Given the description of an element on the screen output the (x, y) to click on. 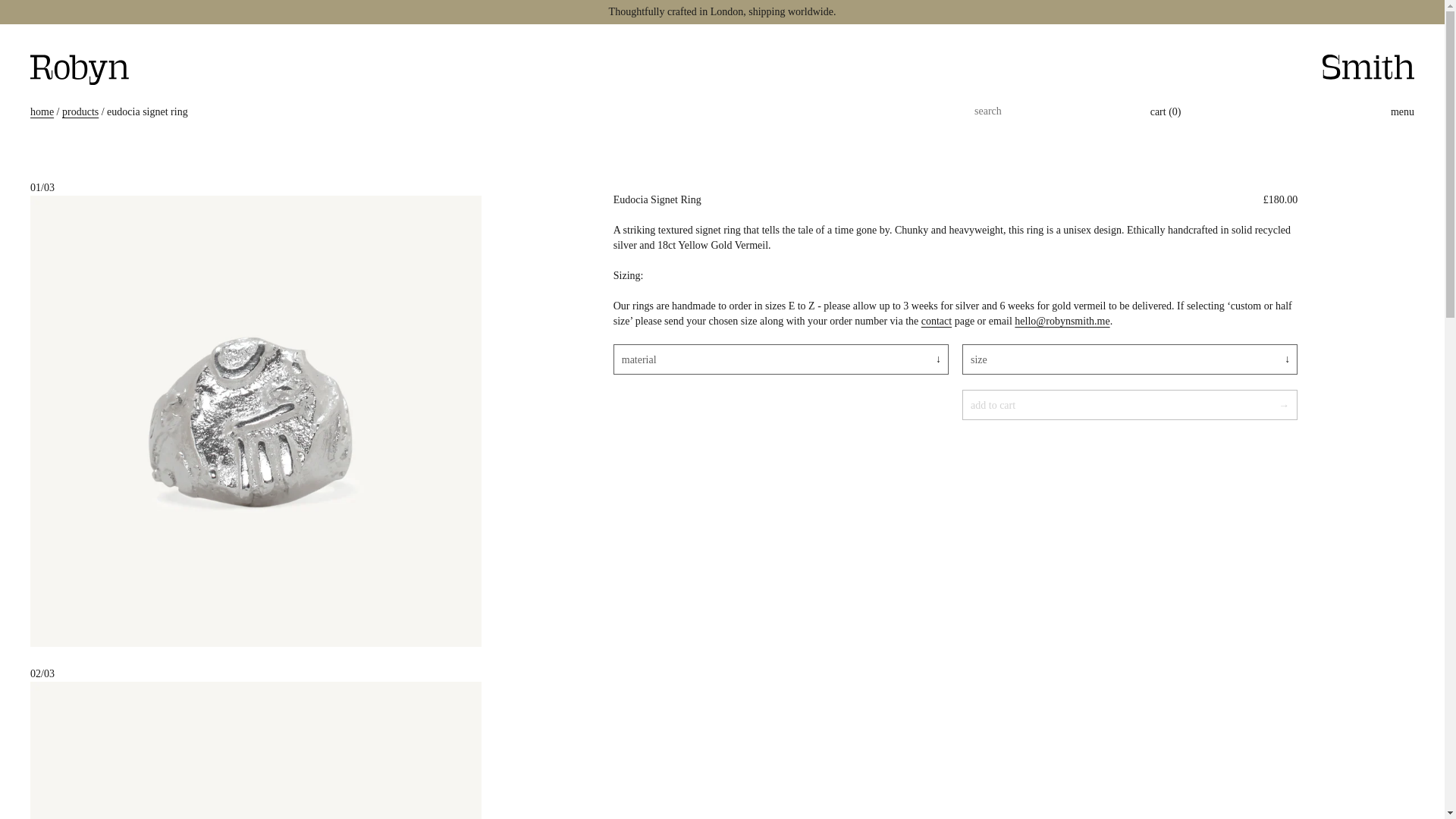
Thoughtfully crafted in London, shipping worldwide. (721, 12)
products (80, 111)
contact (936, 320)
home (41, 111)
